Given the description of an element on the screen output the (x, y) to click on. 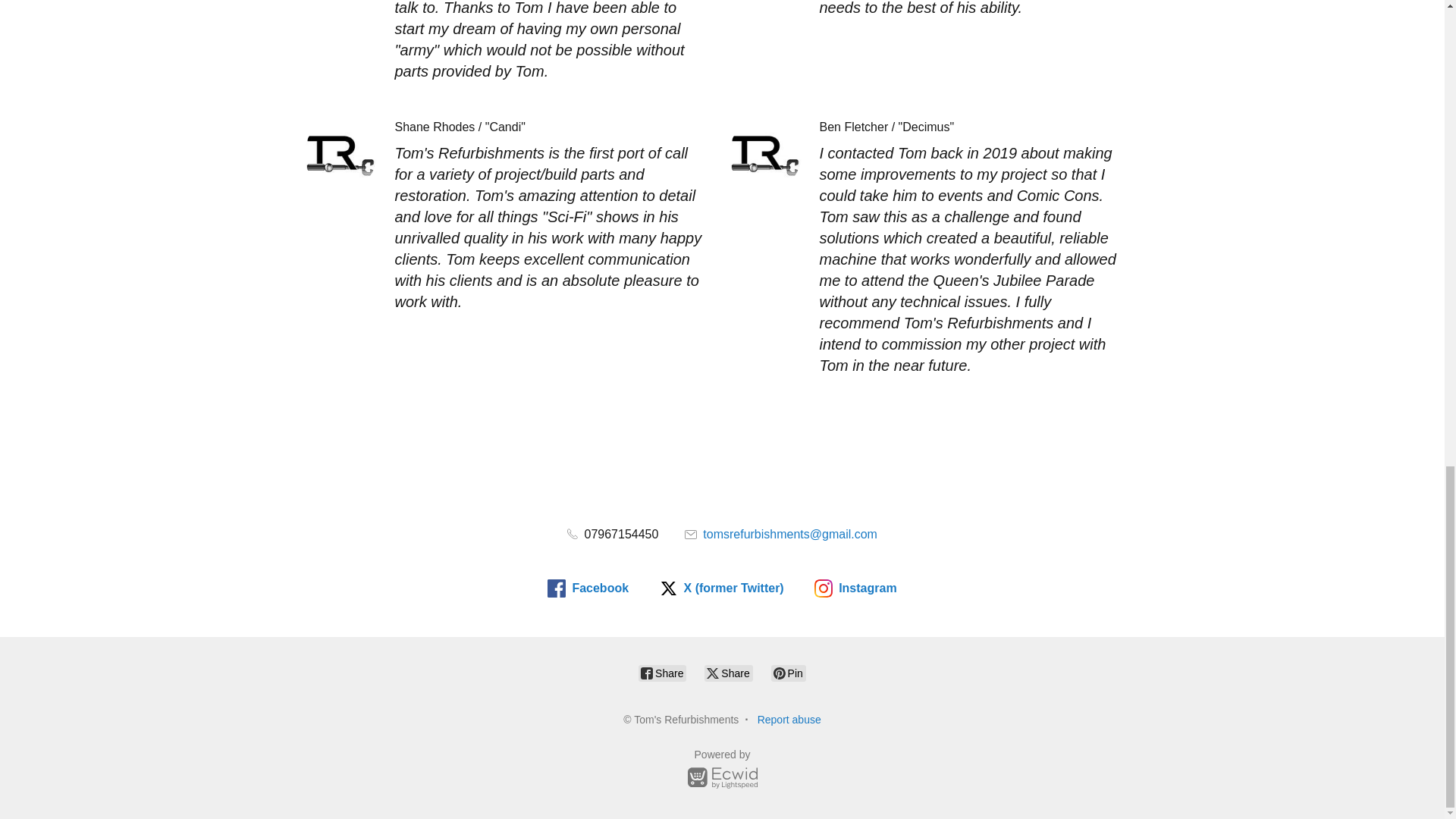
Share (728, 673)
07967154450 (612, 533)
Powered by (722, 771)
Instagram (854, 588)
Share (662, 673)
Report abuse (789, 719)
Facebook (587, 588)
Pin (788, 673)
